Given the description of an element on the screen output the (x, y) to click on. 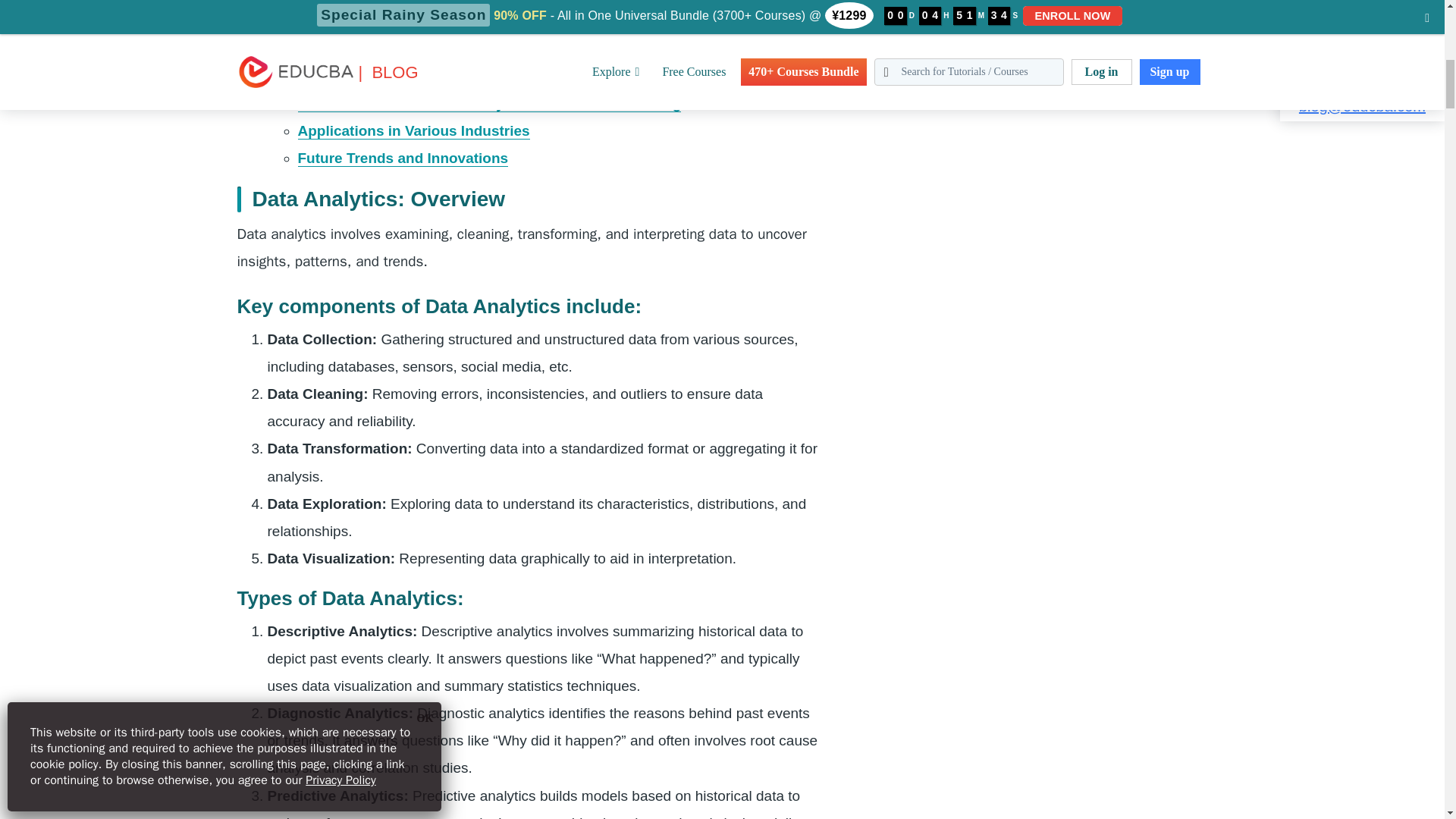
Machine Learning: Overview (395, 21)
Data Analytics: Overview (382, 1)
The Convergence of Data Analytics and Machine Learning (495, 48)
Key considerations (363, 76)
Advertisement (1000, 77)
